Given the description of an element on the screen output the (x, y) to click on. 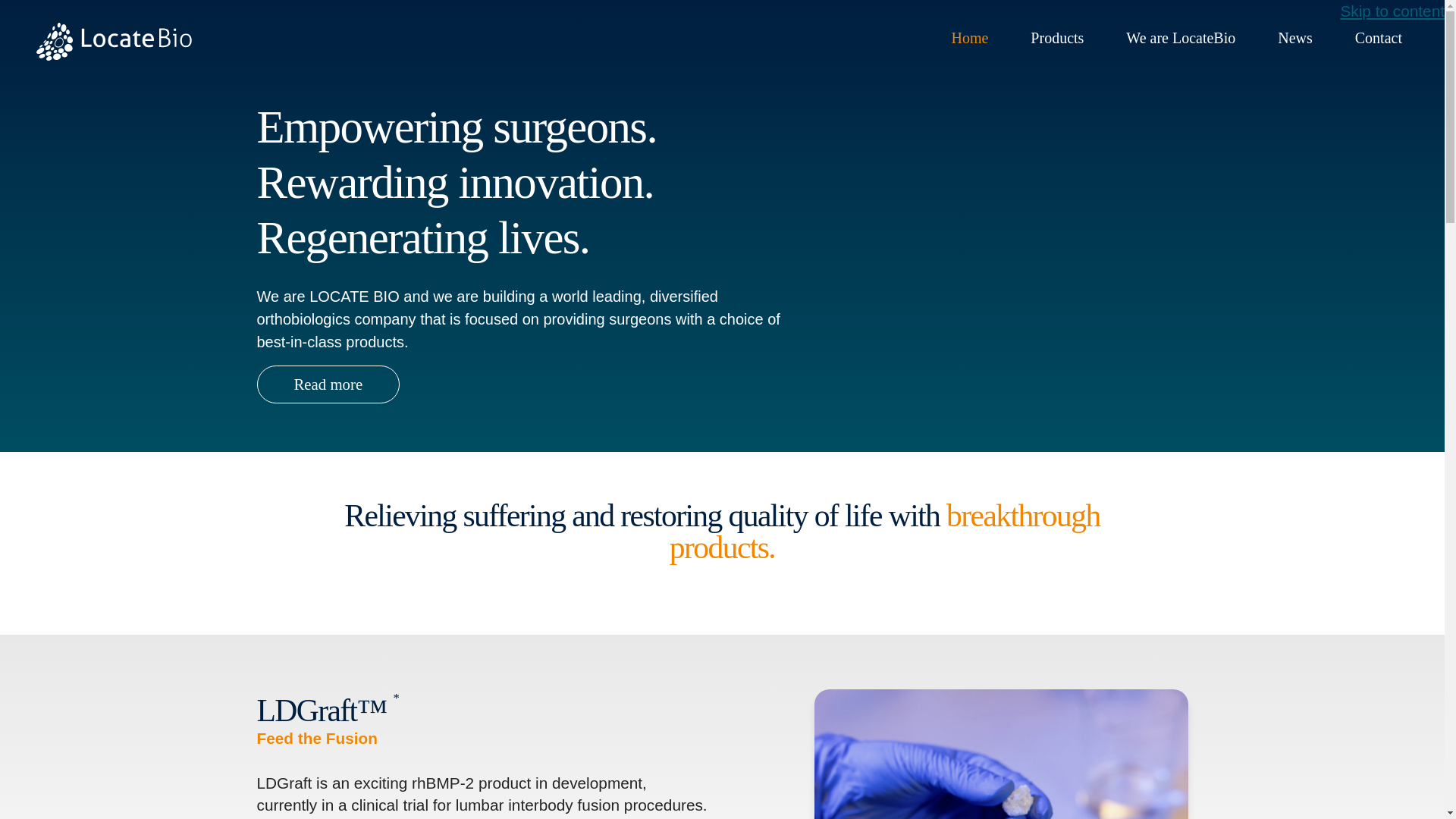
Home (969, 37)
Contact (1378, 37)
Locate Bio (142, 41)
News (1295, 37)
Products (1057, 37)
Read more (327, 384)
We are LocateBio (1180, 37)
Contact (1378, 37)
News (1295, 37)
Products (1057, 37)
Home (969, 37)
We are LocateBio (1180, 37)
